Given the description of an element on the screen output the (x, y) to click on. 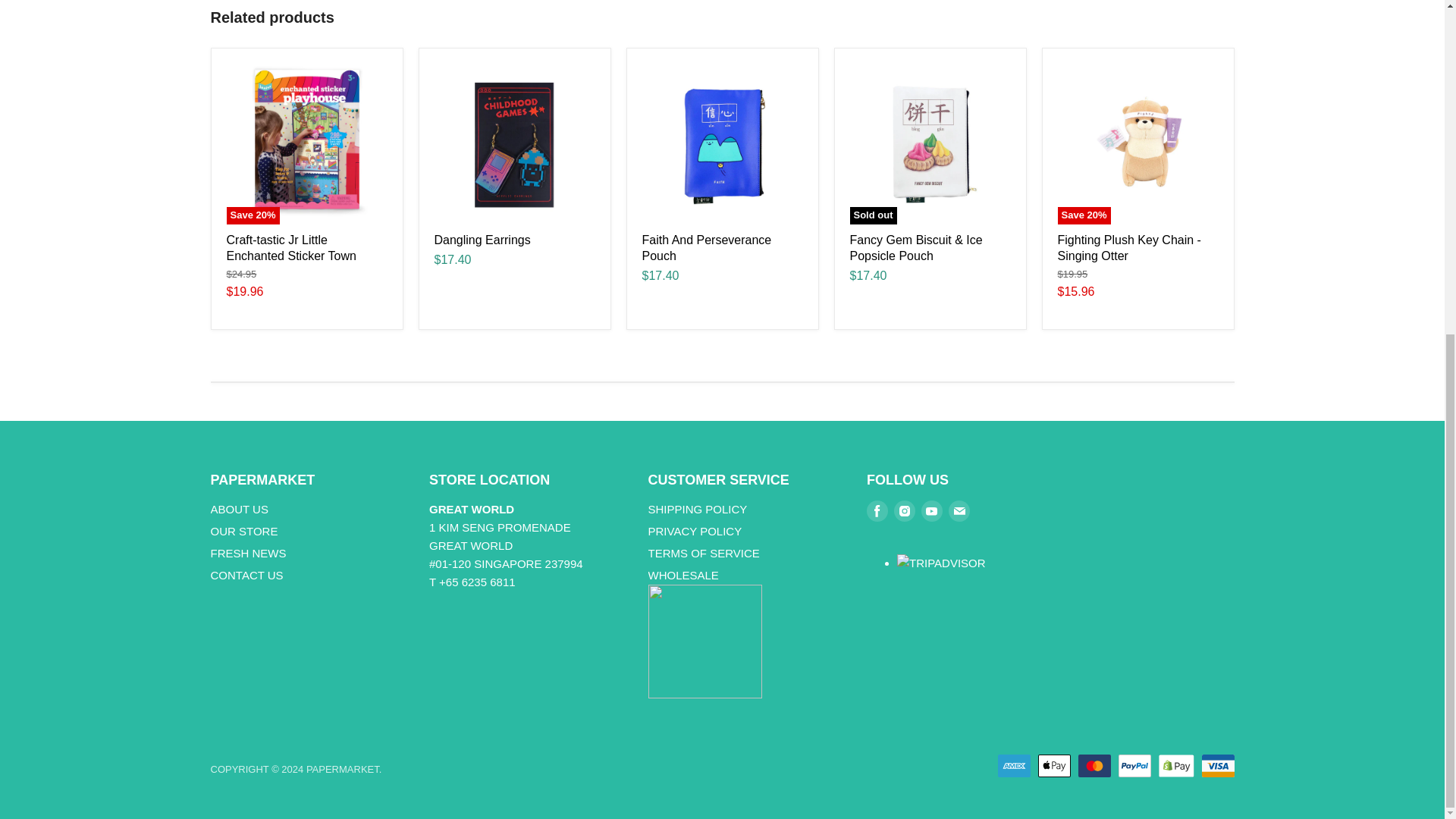
Instagram (904, 510)
E-mail (958, 510)
Youtube (931, 510)
Facebook (877, 510)
